Given the description of an element on the screen output the (x, y) to click on. 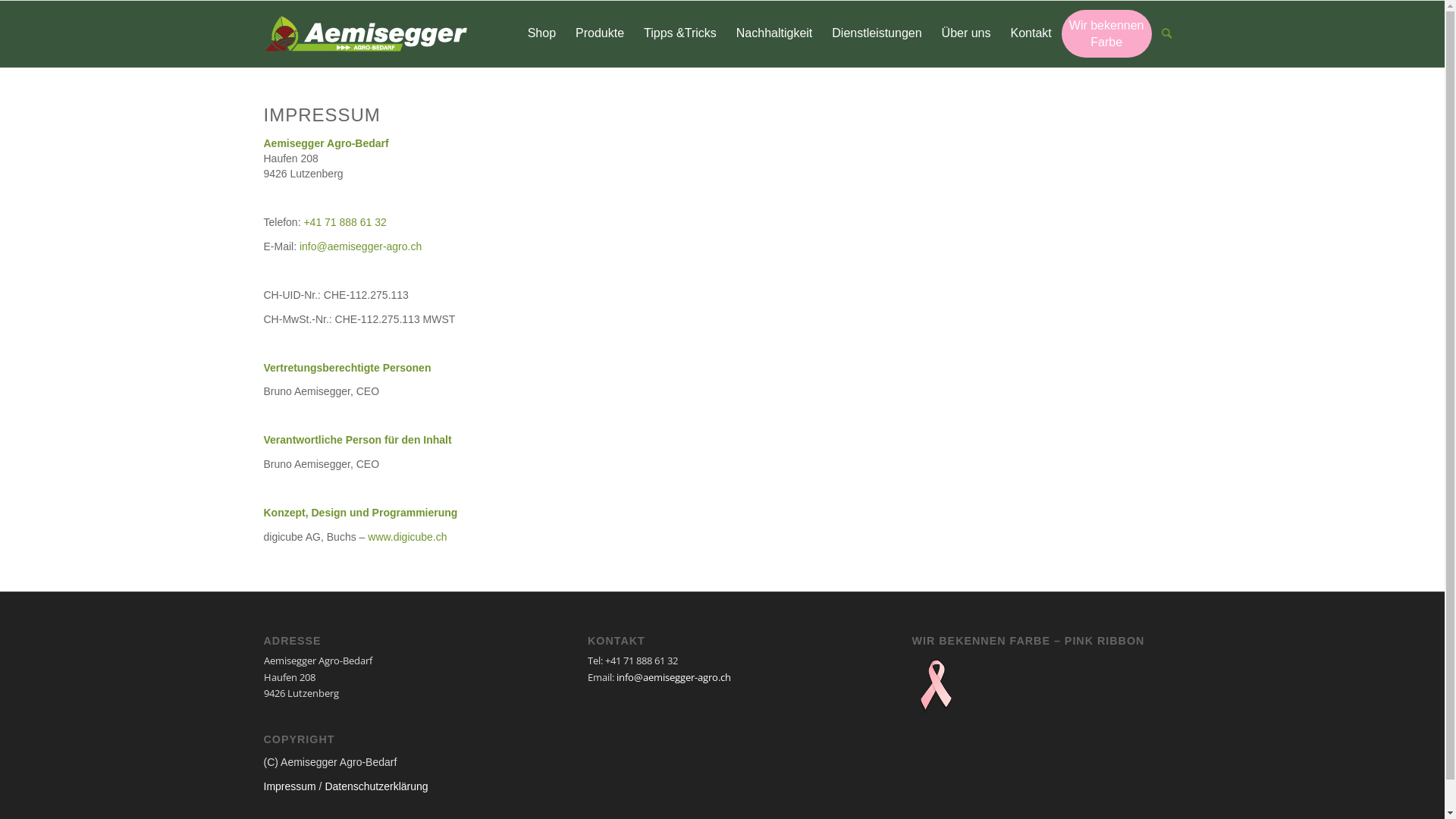
www.digicube.ch Element type: text (406, 536)
Dienstleistungen Element type: text (876, 33)
info@aemisegger-agro.ch Element type: text (673, 677)
456 Element type: hover (365, 31)
info@aemisegger-agro.ch Element type: text (360, 246)
Wir bekennen
Farbe Element type: text (1106, 33)
Kontakt Element type: text (1031, 33)
456 Element type: hover (365, 33)
Shop Element type: text (541, 33)
Impressum Element type: text (289, 786)
+41 71 888 61 32 Element type: text (344, 222)
Produkte Element type: text (599, 33)
Nachhaltigkeit Element type: text (774, 33)
Tipps &Tricks Element type: text (679, 33)
